Given the description of an element on the screen output the (x, y) to click on. 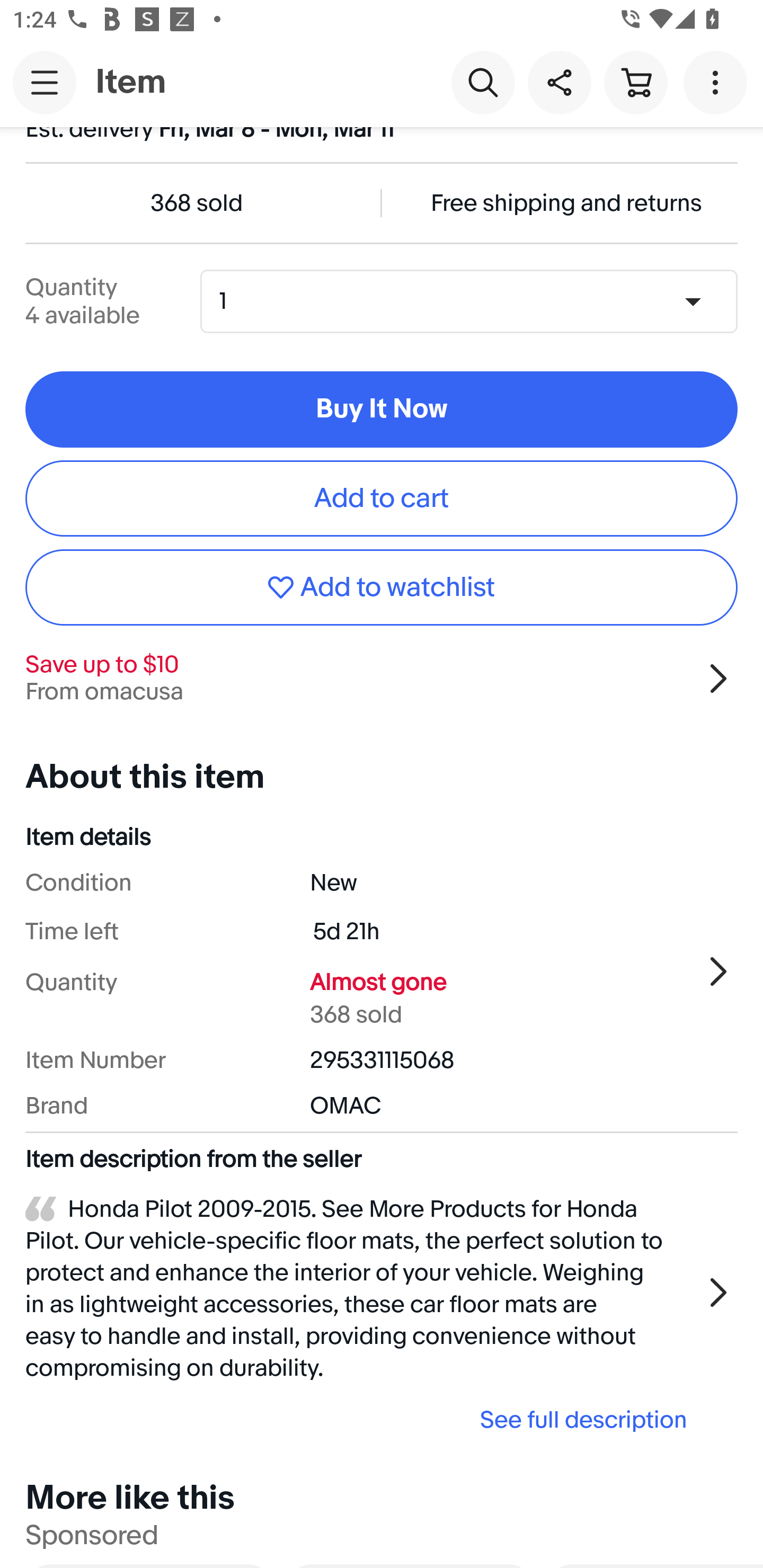
Main navigation, open (44, 82)
Search (482, 81)
Share this item (559, 81)
Cart button shopping cart (635, 81)
More options (718, 81)
Quantity,1,4 available 1 (474, 300)
Buy It Now (381, 408)
Add to cart (381, 498)
Add to watchlist (381, 586)
Save up to $10 From omacusa (381, 677)
See full description (362, 1419)
